Given the description of an element on the screen output the (x, y) to click on. 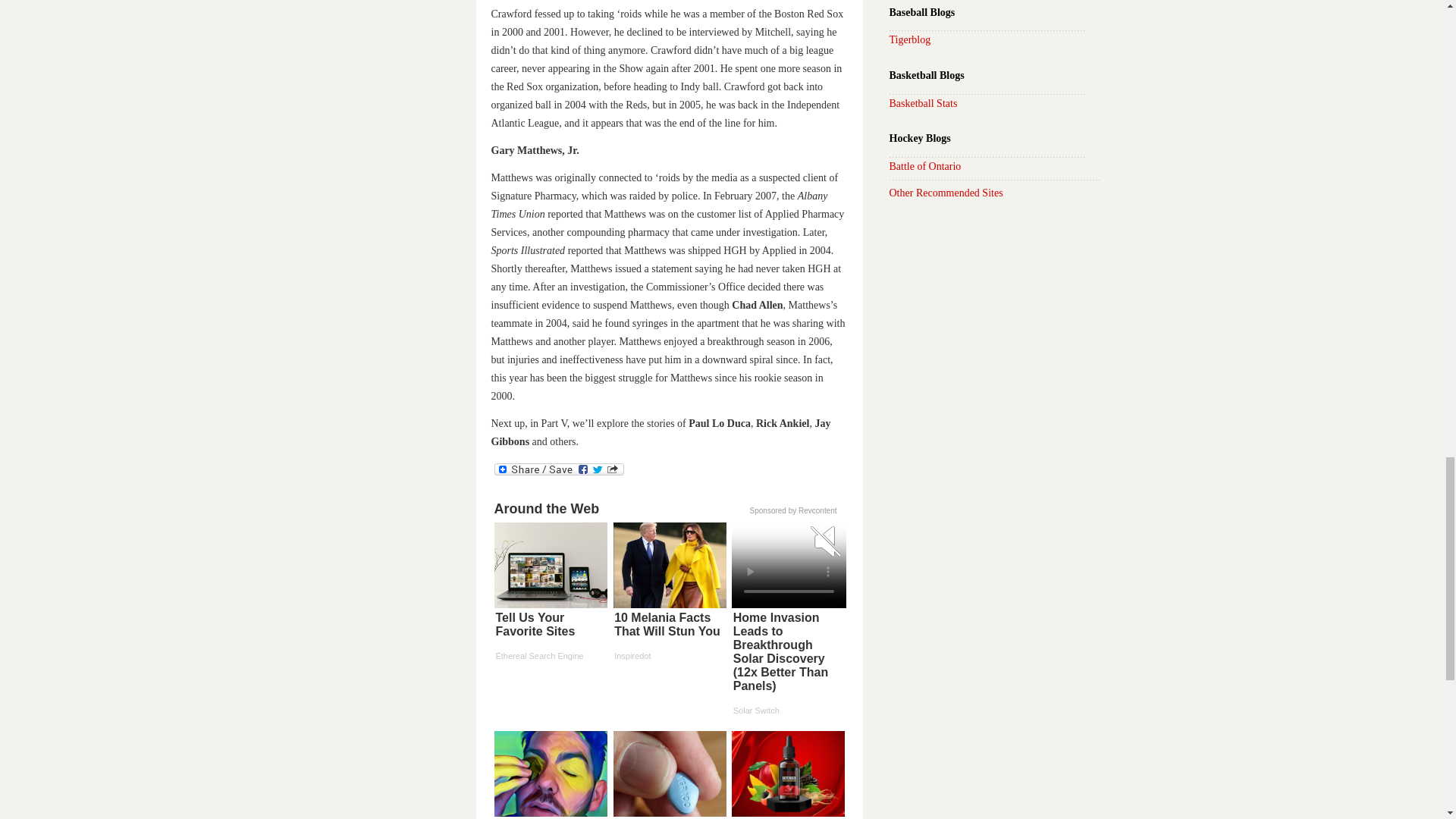
Top Doctor Reveals the Root Cause of ED in Men Over 50 (668, 775)
